Given the description of an element on the screen output the (x, y) to click on. 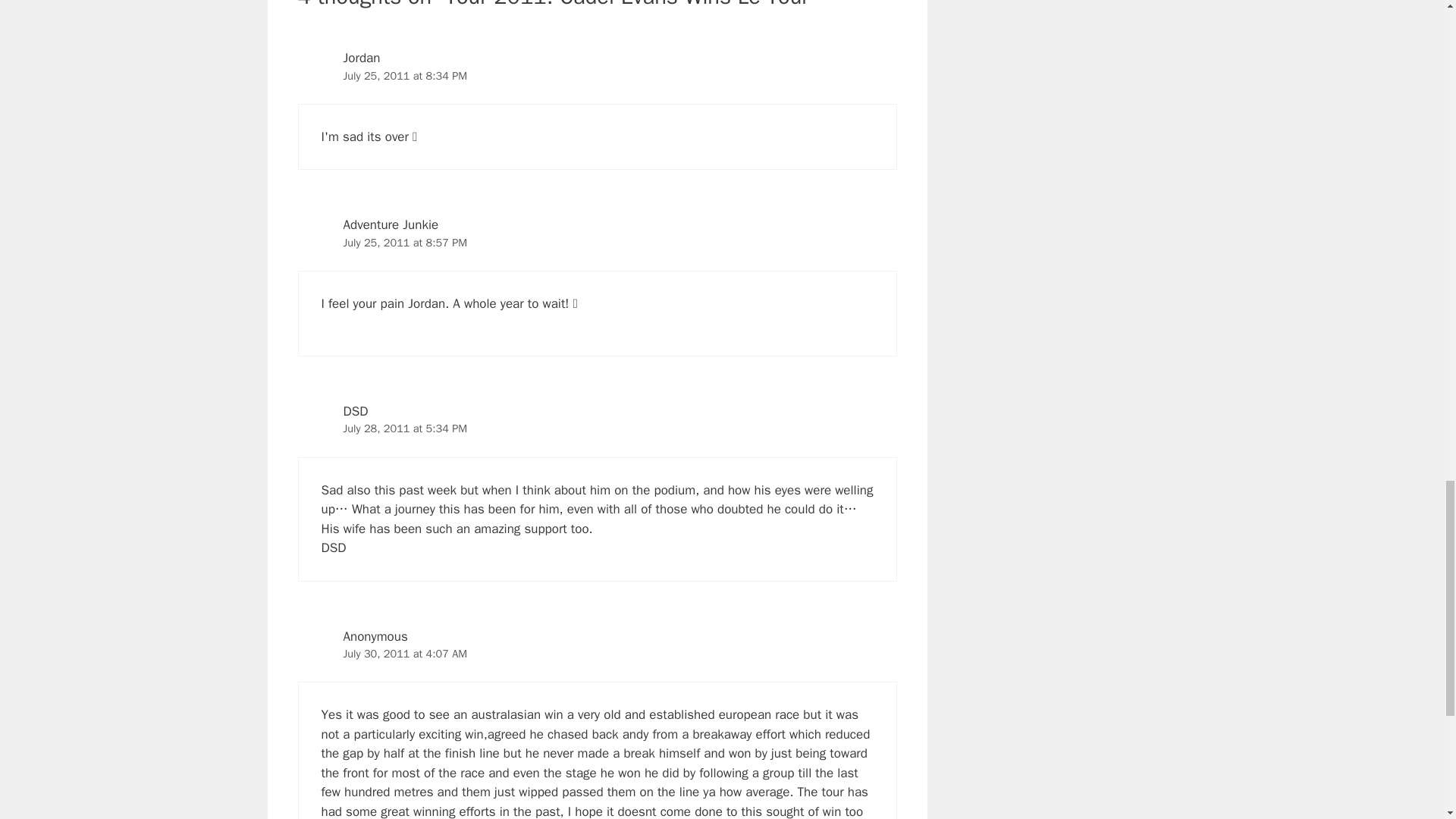
July 28, 2011 at 5:34 PM (404, 427)
July 30, 2011 at 4:07 AM (404, 653)
July 25, 2011 at 8:57 PM (404, 242)
July 25, 2011 at 8:34 PM (404, 75)
